Given the description of an element on the screen output the (x, y) to click on. 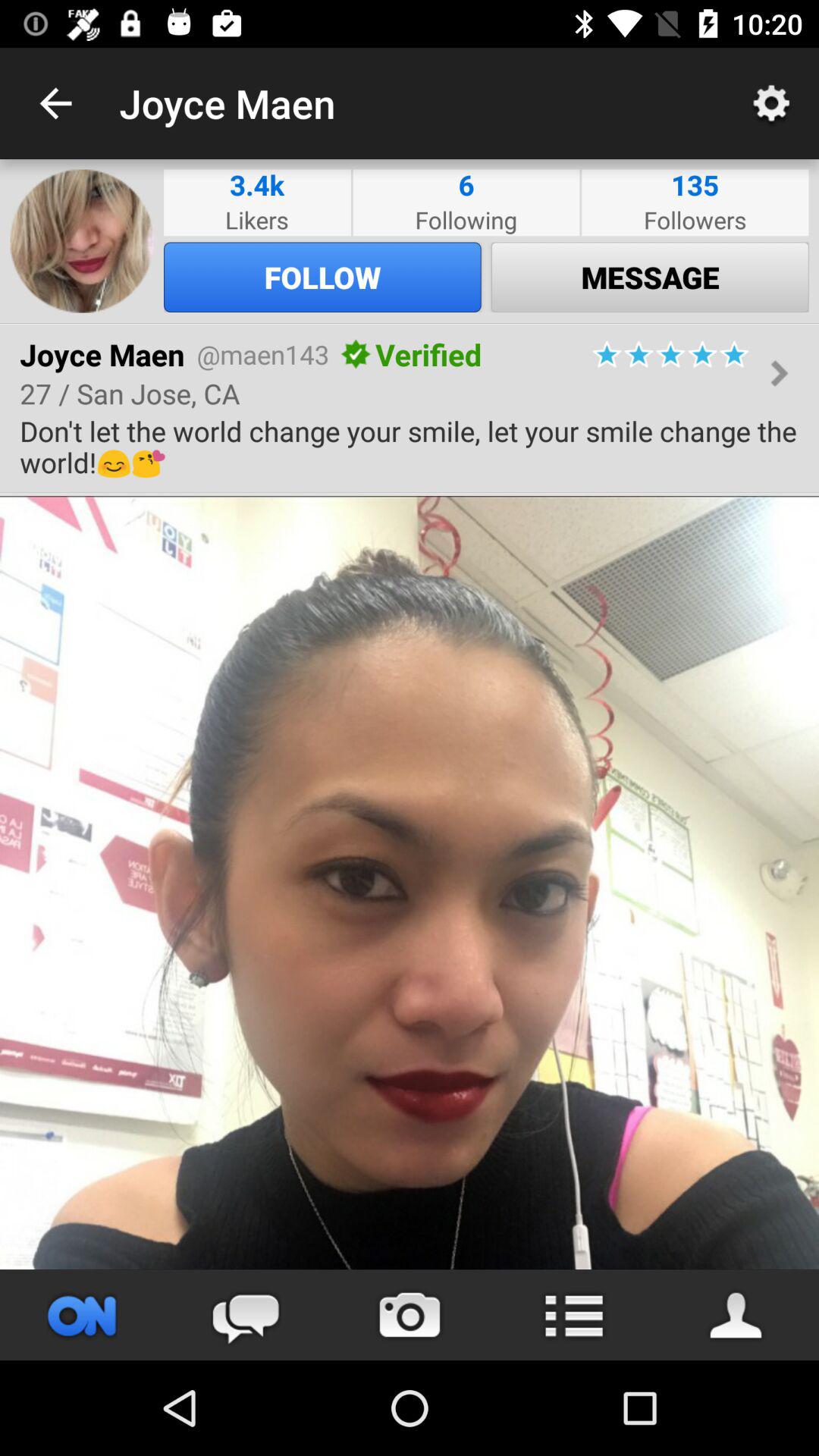
click the icon above the follow item (466, 219)
